Given the description of an element on the screen output the (x, y) to click on. 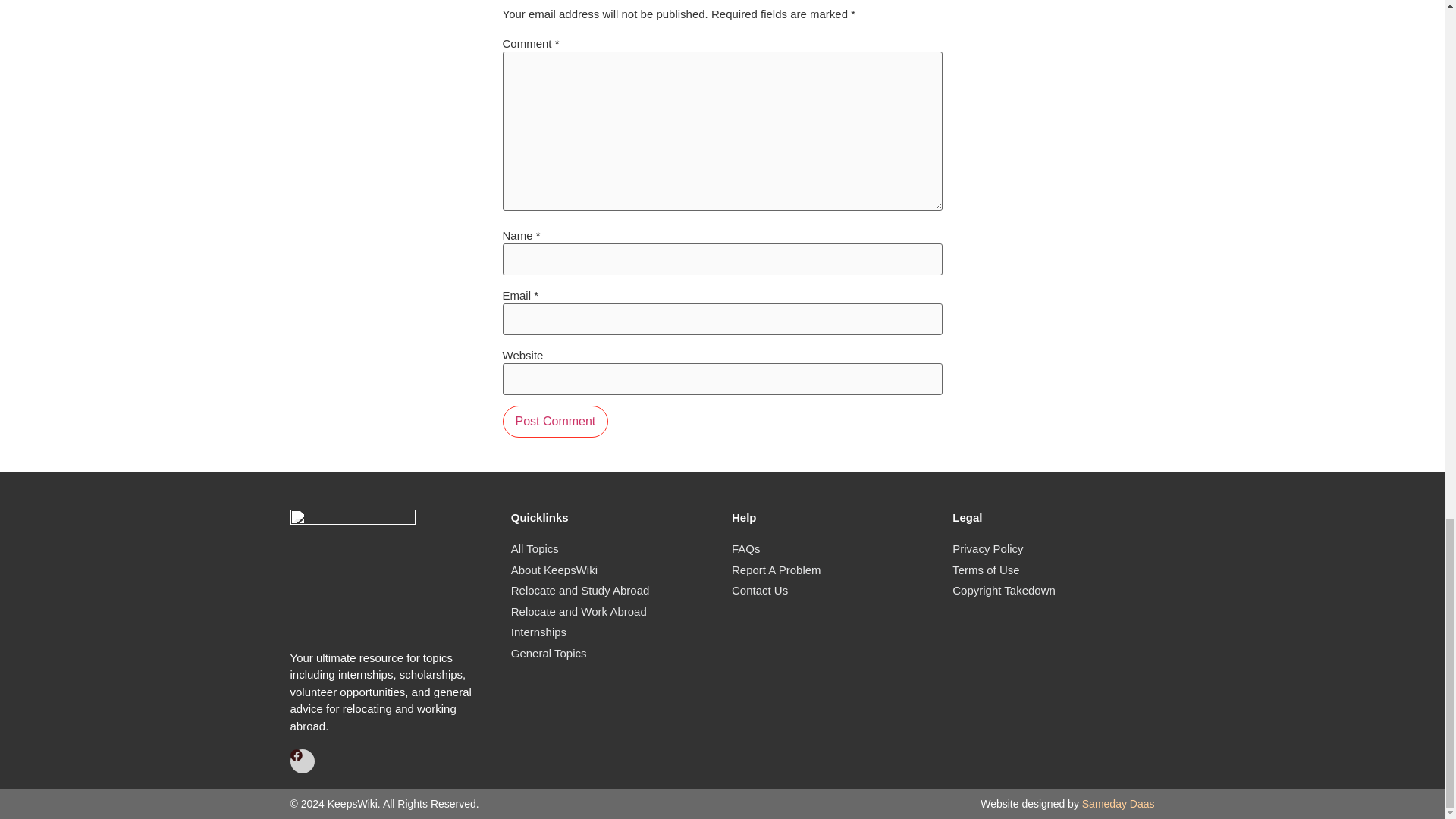
About KeepsWiki (612, 570)
All Topics (612, 548)
Post Comment (555, 421)
Post Comment (555, 421)
